Given the description of an element on the screen output the (x, y) to click on. 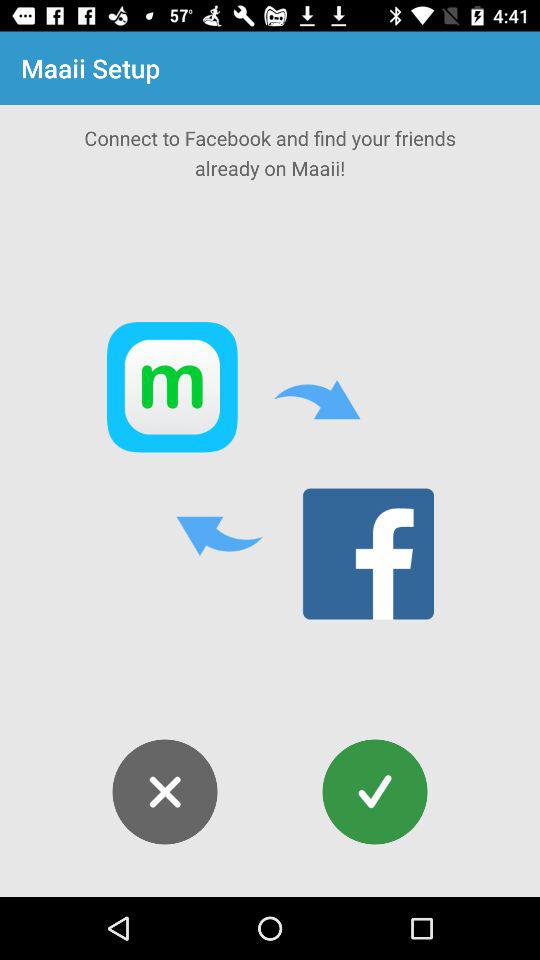
cancel connection (164, 791)
